Given the description of an element on the screen output the (x, y) to click on. 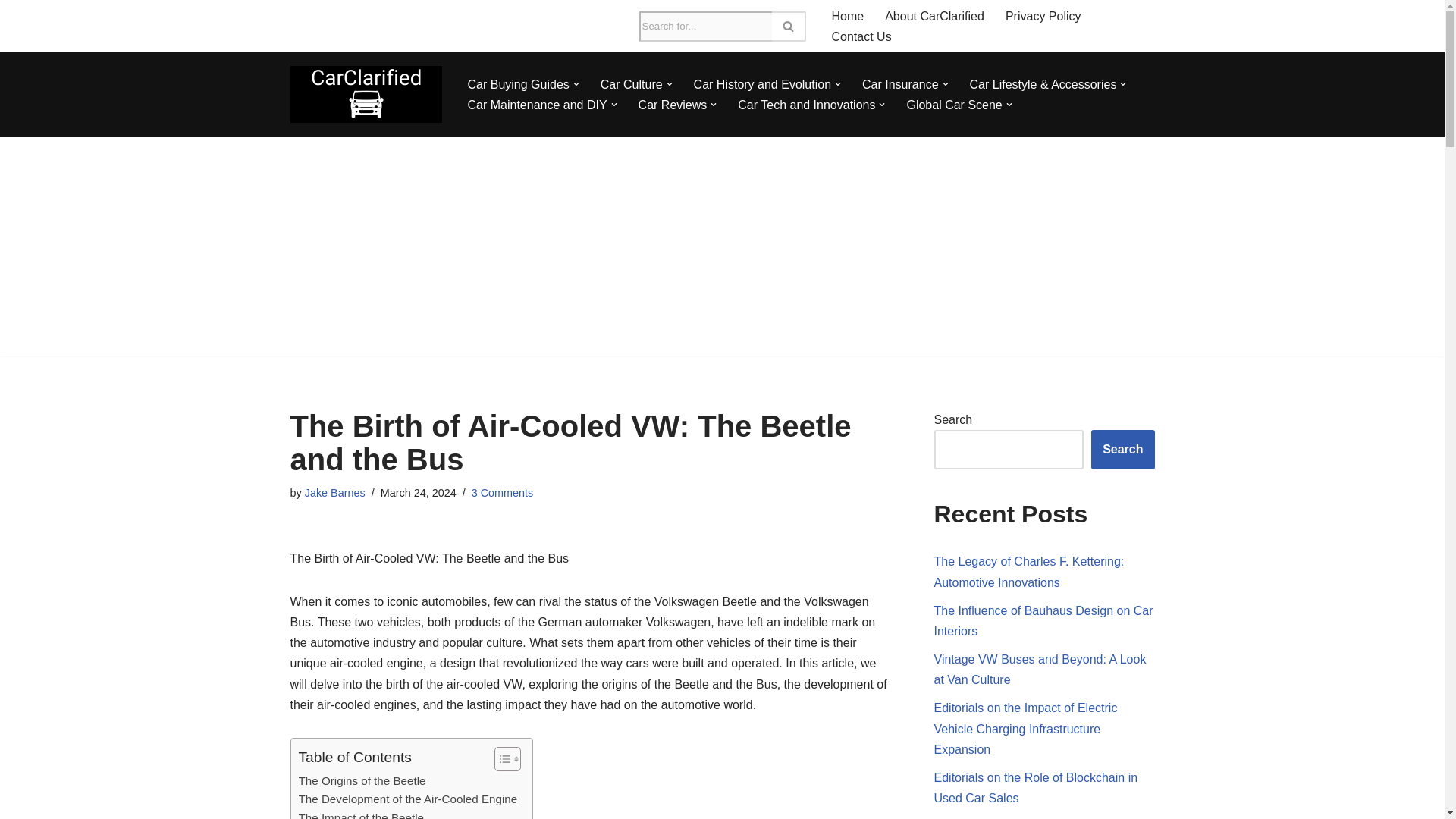
Car Culture (630, 84)
Car Buying Guides (518, 84)
Skip to content (11, 31)
About CarClarified (934, 15)
Privacy Policy (1043, 15)
Contact Us (861, 36)
Car Insurance (900, 84)
The Development of the Air-Cooled Engine (408, 799)
Home (847, 15)
Car History and Evolution (762, 84)
The Origins of the Beetle (362, 781)
The Impact of the Beetle (360, 814)
Car Maintenance and DIY (537, 105)
Posts by Jake Barnes (334, 492)
